Given the description of an element on the screen output the (x, y) to click on. 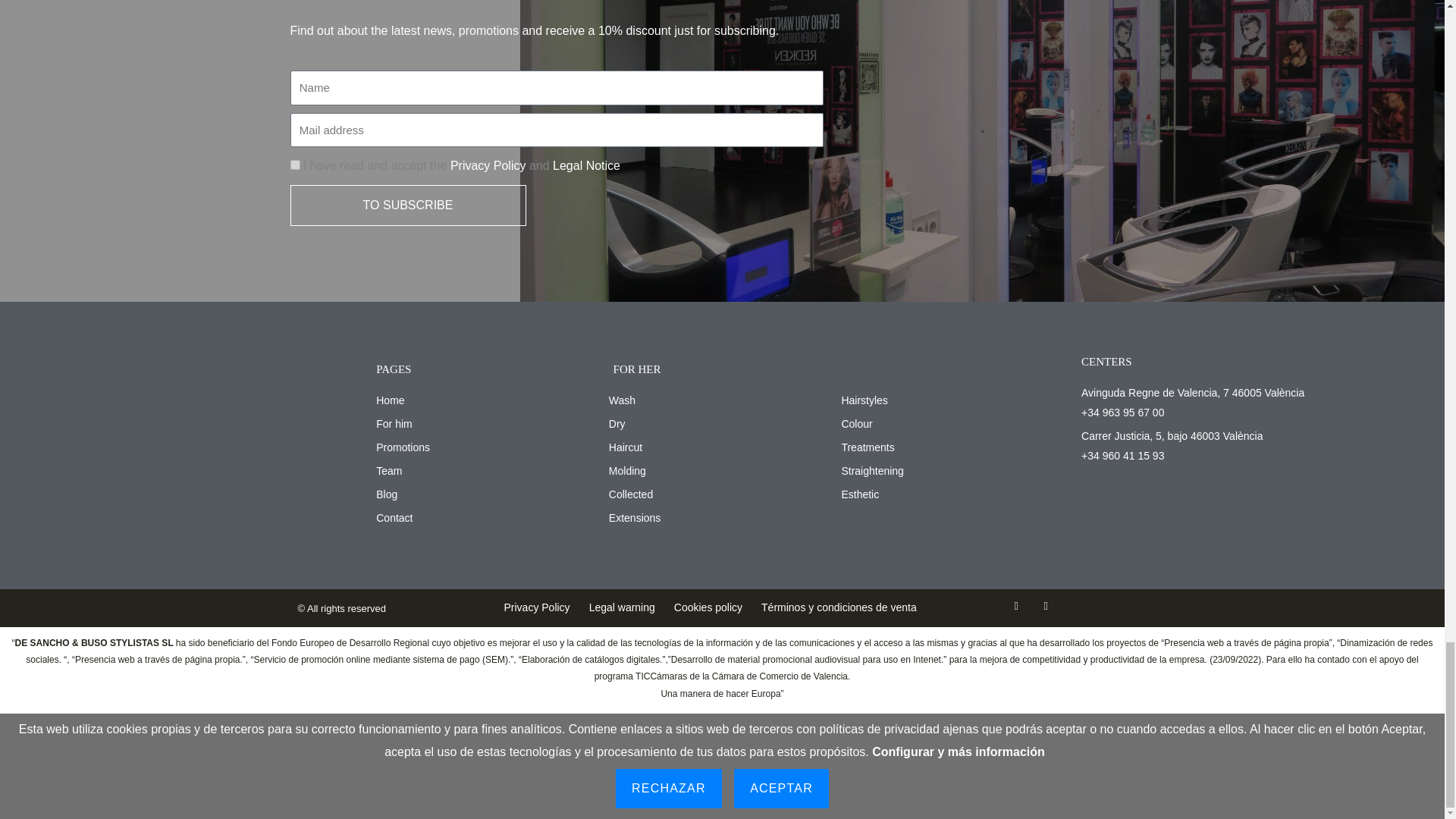
on (294, 164)
